Given the description of an element on the screen output the (x, y) to click on. 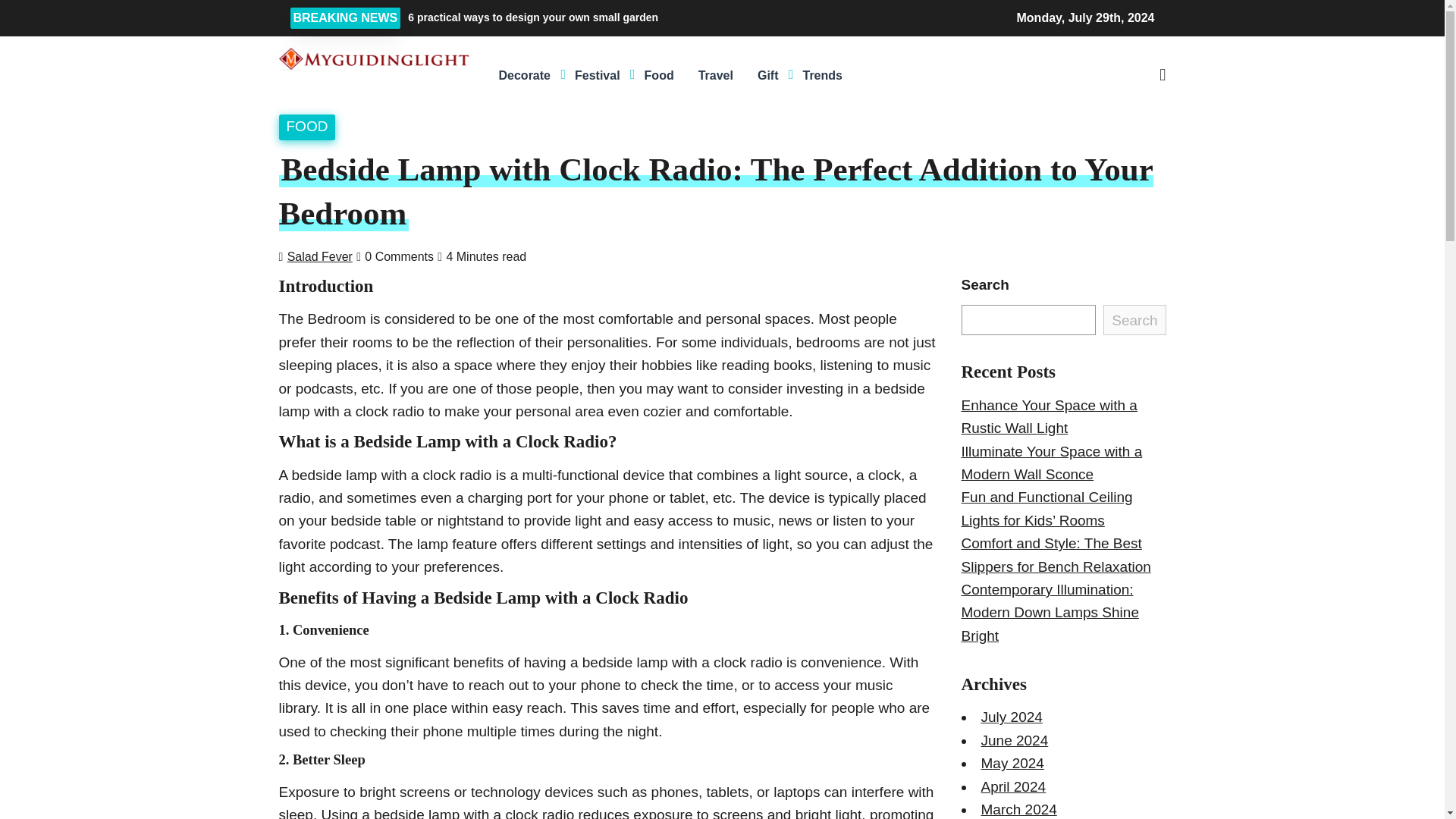
Decorate (524, 75)
Travel (715, 75)
Festival (596, 75)
Food (658, 75)
6 practical ways to design your own small garden (637, 17)
